Given the description of an element on the screen output the (x, y) to click on. 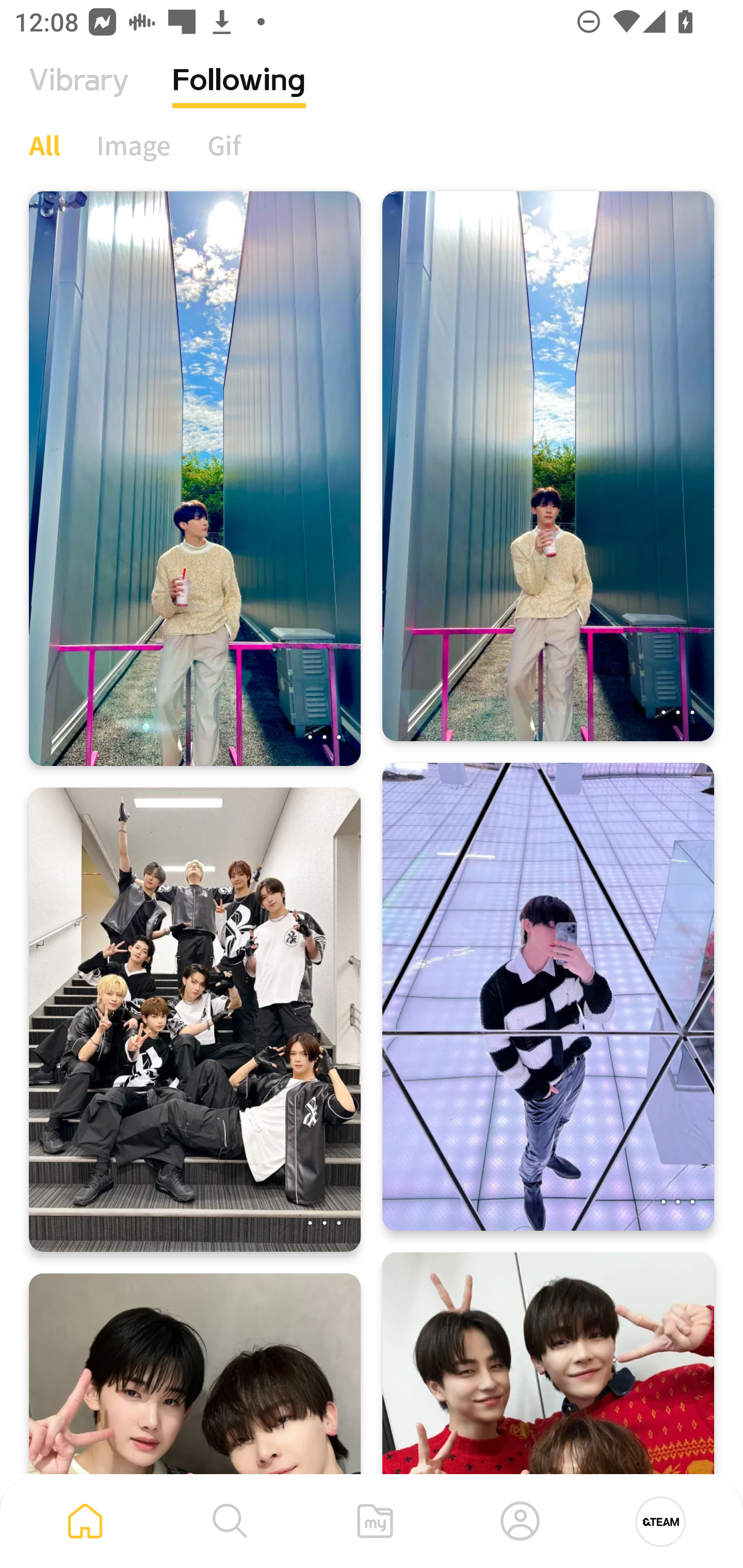
Vibrary (78, 95)
Following (239, 95)
All (44, 145)
Image (133, 145)
Gif (223, 145)
